Given the description of an element on the screen output the (x, y) to click on. 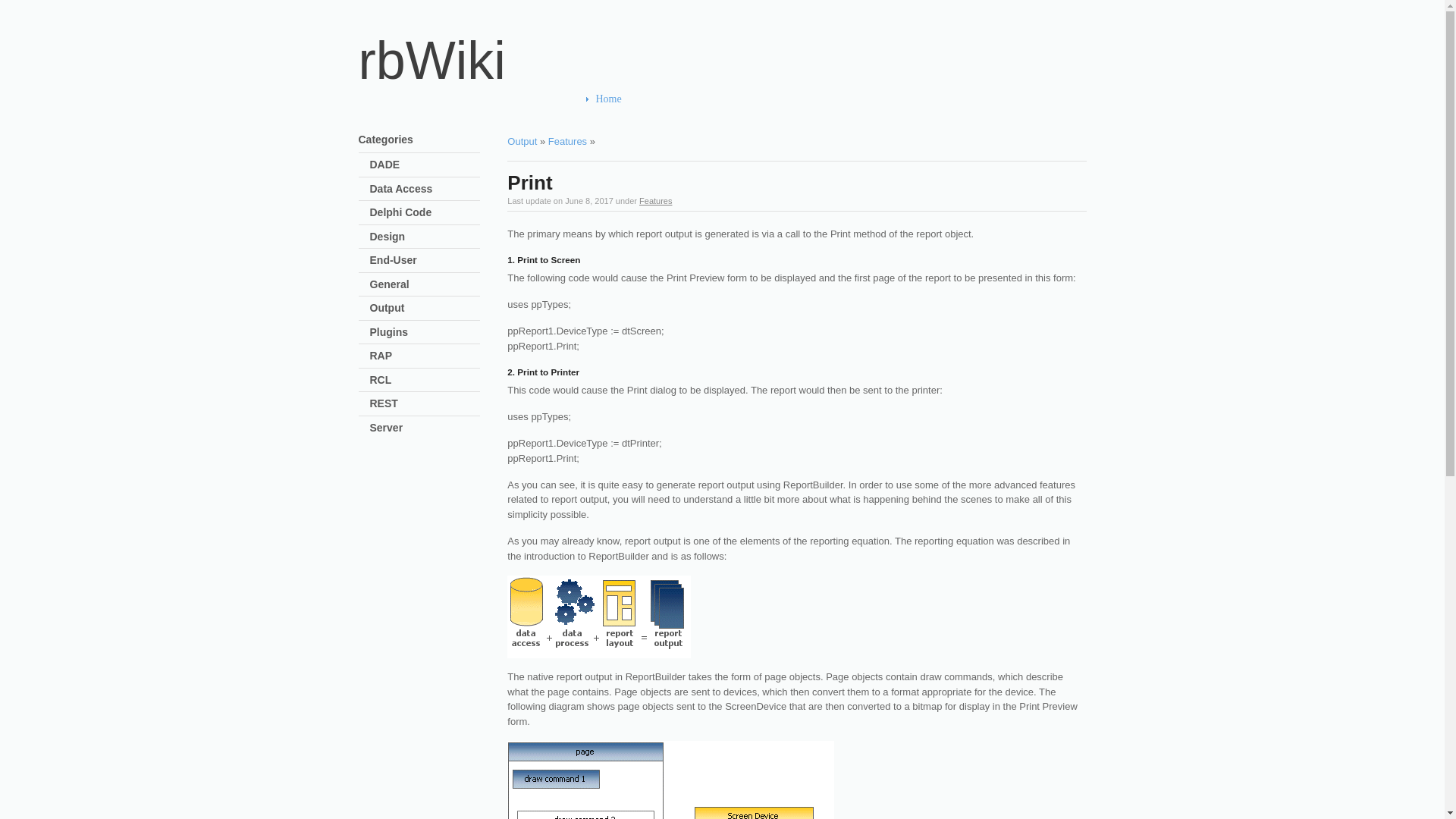
Output (521, 141)
Features (567, 141)
Toggle (361, 164)
Toggle (361, 211)
Delphi Code (397, 212)
rbWiki (431, 60)
Design (384, 236)
Data Access (398, 187)
Toggle (361, 235)
Home (647, 98)
DADE (381, 164)
Features (655, 199)
